Given the description of an element on the screen output the (x, y) to click on. 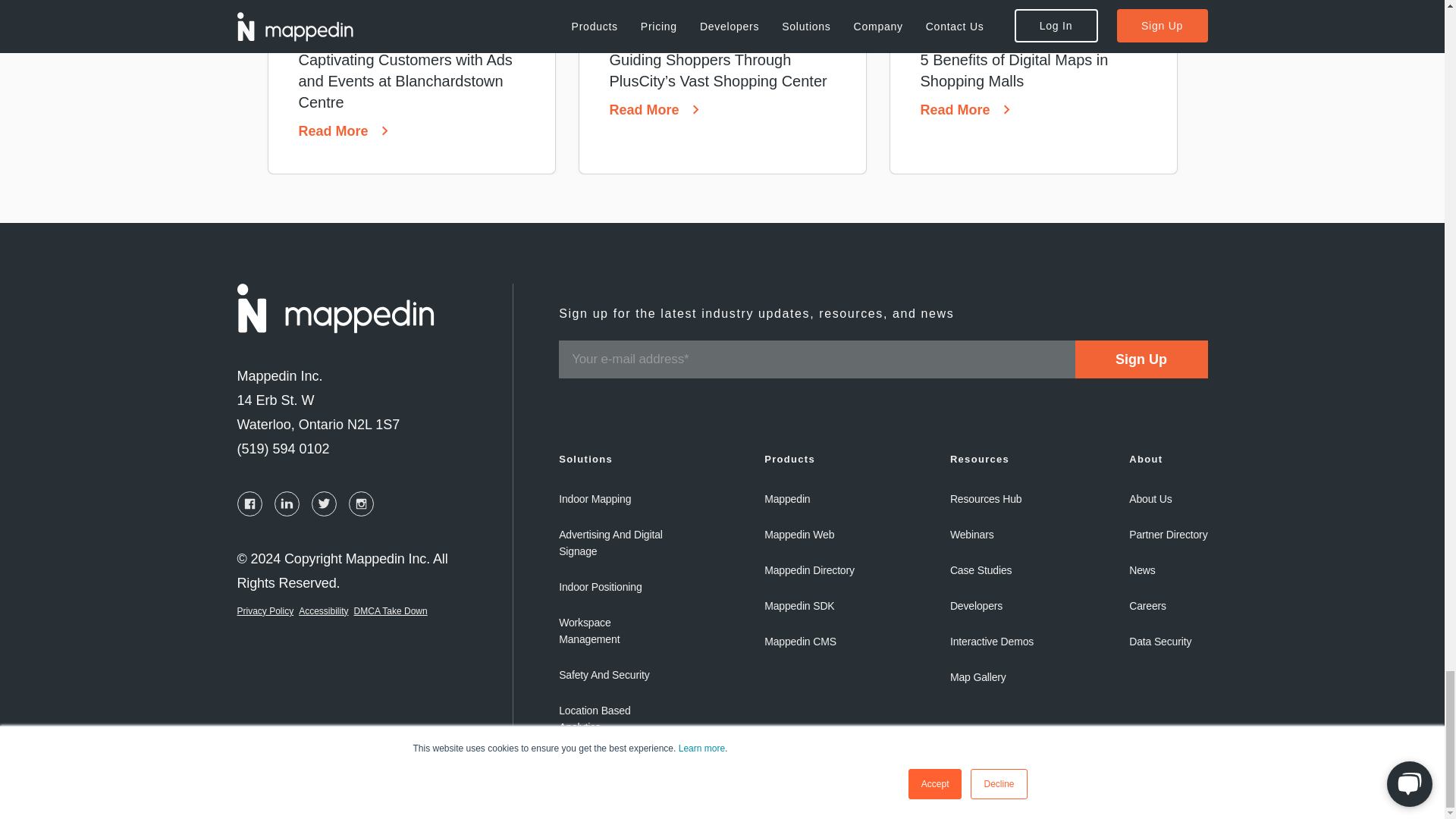
Sign Up (1141, 359)
